Given the description of an element on the screen output the (x, y) to click on. 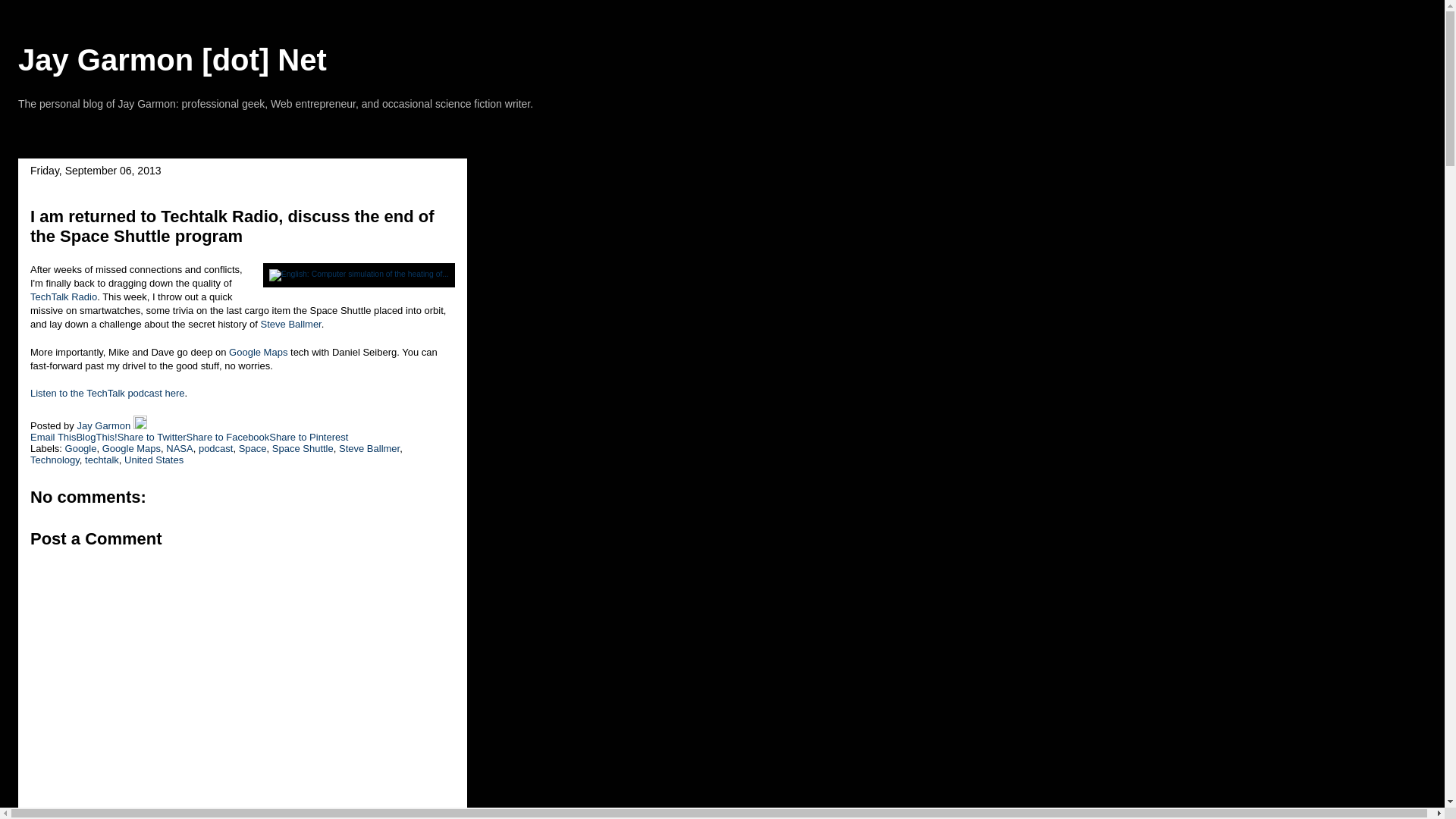
Email This (52, 437)
United States (153, 460)
podcast (215, 448)
Google Maps (130, 448)
Share to Twitter (151, 437)
Share to Facebook (227, 437)
author profile (104, 425)
techtalk (101, 460)
Email This (52, 437)
BlogThis! (95, 437)
Share to Twitter (151, 437)
Edit Post (140, 425)
Space Shuttle (302, 448)
Google (81, 448)
BlogThis! (95, 437)
